Given the description of an element on the screen output the (x, y) to click on. 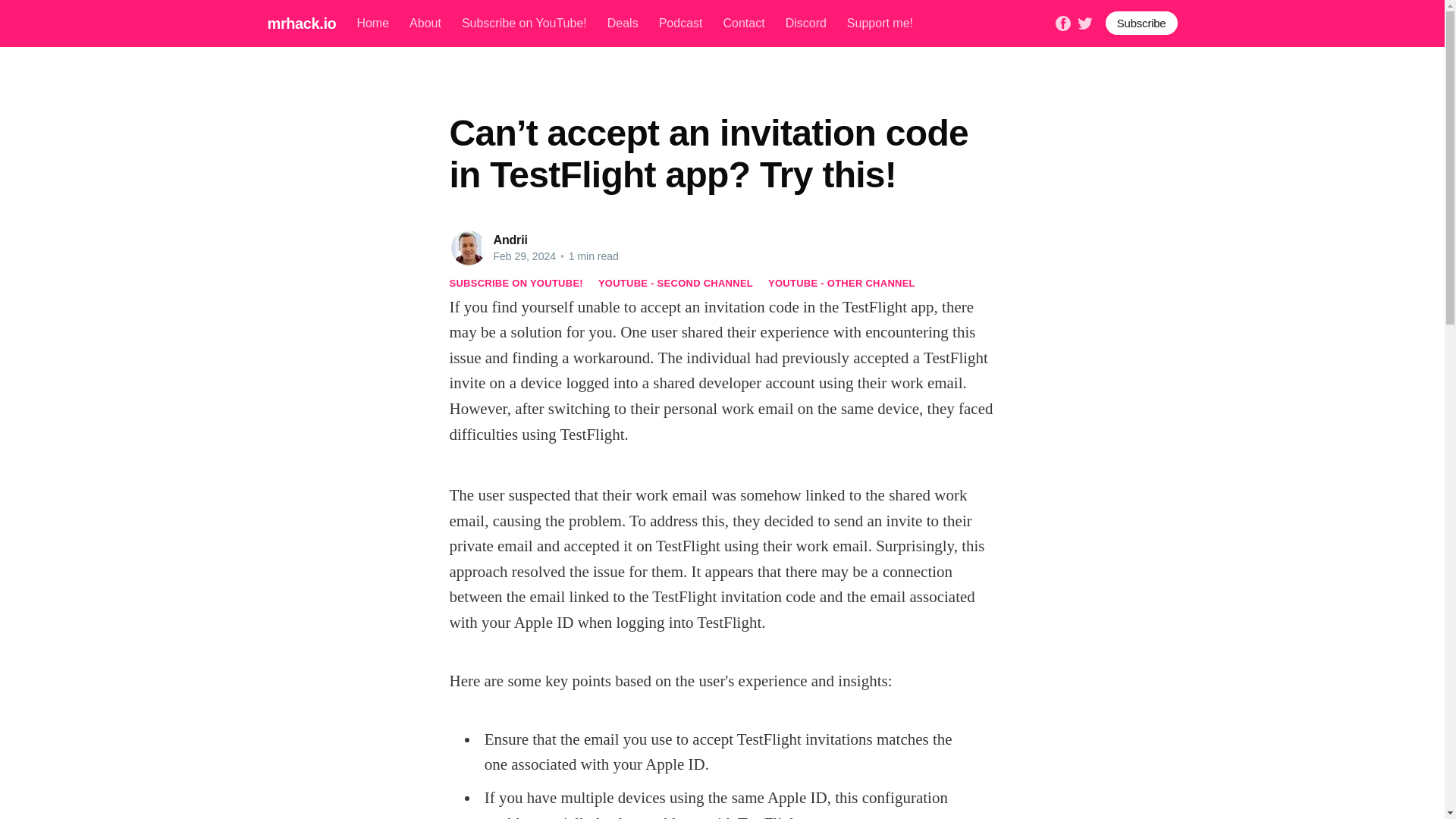
mrhack.io (301, 23)
YOUTUBE - OTHER CHANNEL (841, 283)
Contact (743, 22)
Support me! (879, 22)
Subscribe on YouTube! (523, 22)
Facebook (1062, 21)
Deals (623, 22)
SUBSCRIBE ON YOUTUBE! (515, 283)
Twitter (1085, 21)
Podcast (681, 22)
